Given the description of an element on the screen output the (x, y) to click on. 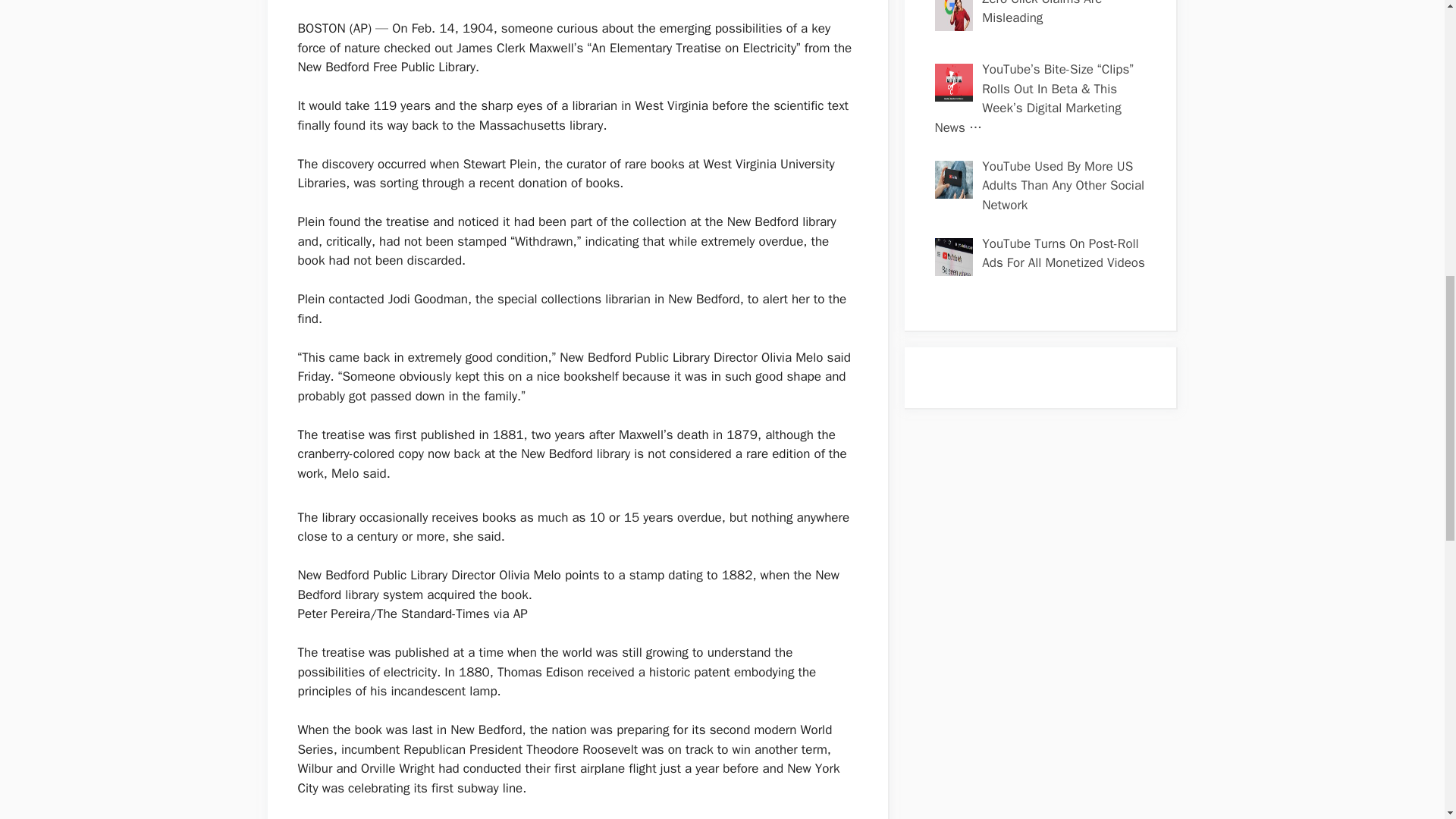
YouTube Used By More US Adults Than Any Other Social Network (1062, 185)
YouTube Turns On Post-Roll Ads For All Monetized Videos (1062, 253)
Zero Click Claims Are Misleading (1041, 13)
